Given the description of an element on the screen output the (x, y) to click on. 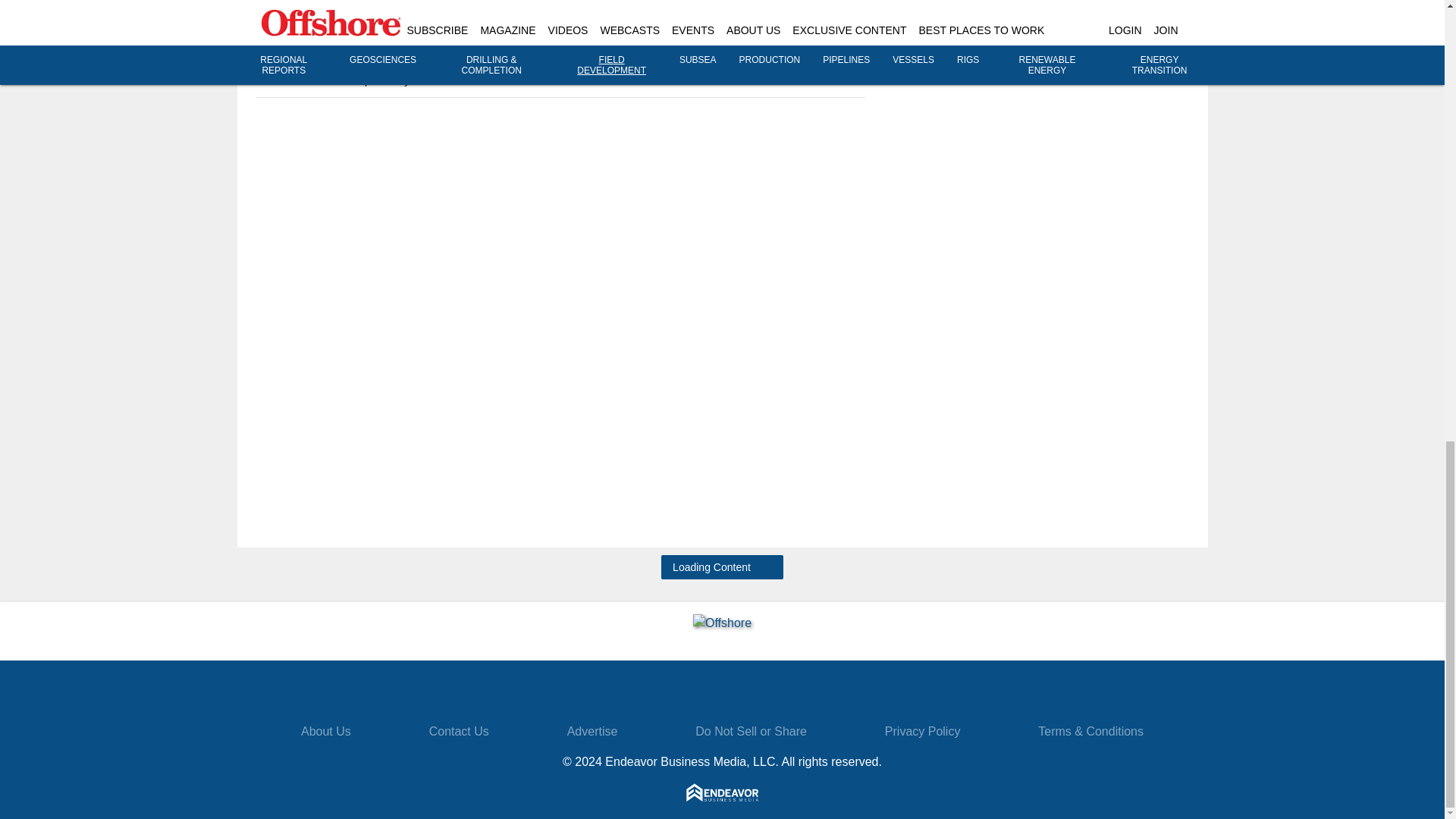
The Cambo field development layout. (560, 33)
Dorado Phase 1 liquids development (1137, 20)
